Given the description of an element on the screen output the (x, y) to click on. 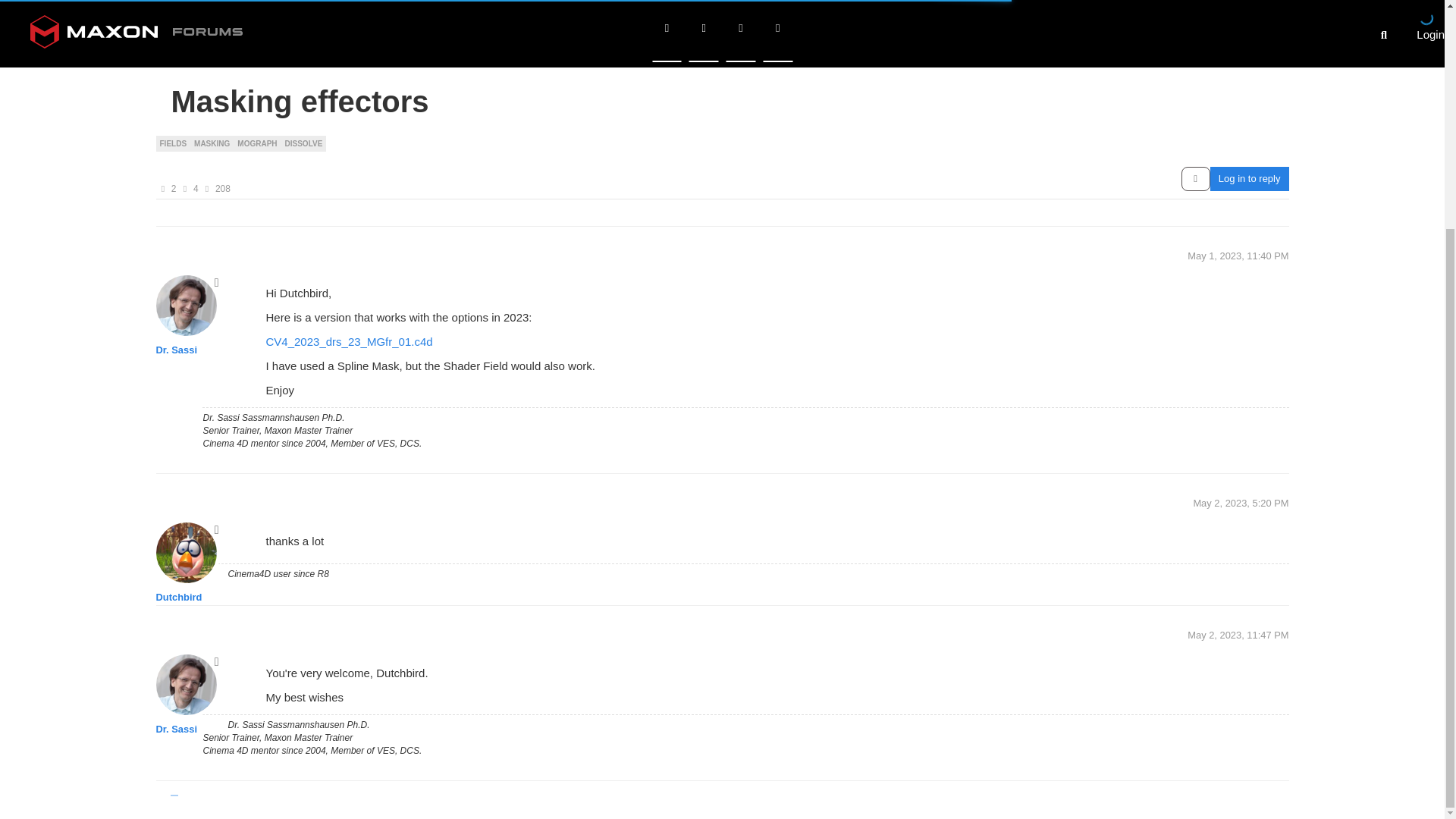
Posts (184, 88)
Log in to reply (1248, 78)
MASKING (211, 41)
MOGRAPH (256, 41)
Posters (162, 88)
Dutchbird (178, 192)
FIELDS (172, 41)
DISSOLVE (303, 41)
